Given the description of an element on the screen output the (x, y) to click on. 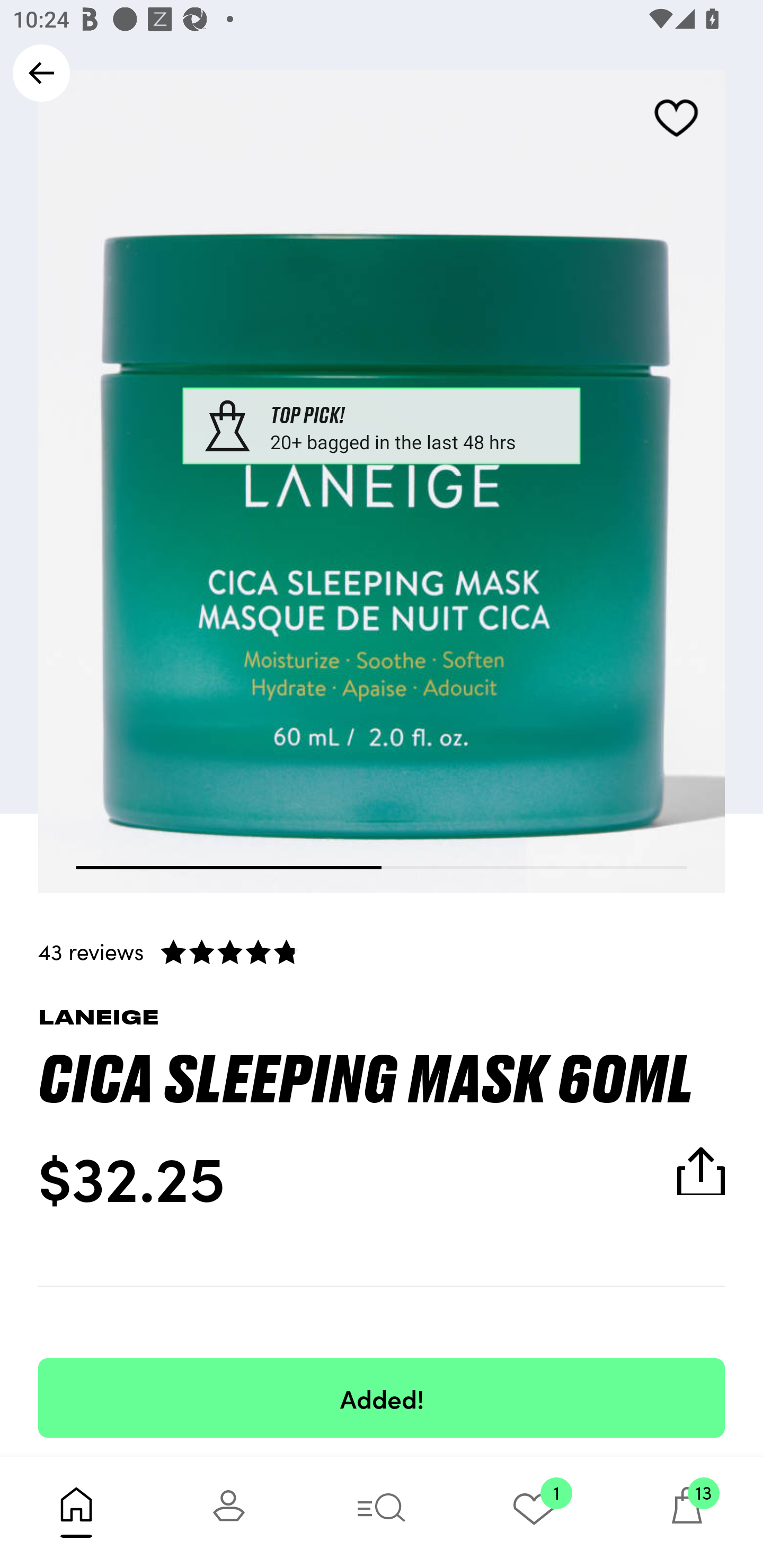
43 reviews (381, 950)
Added! (381, 1397)
1 (533, 1512)
13 (686, 1512)
